Given the description of an element on the screen output the (x, y) to click on. 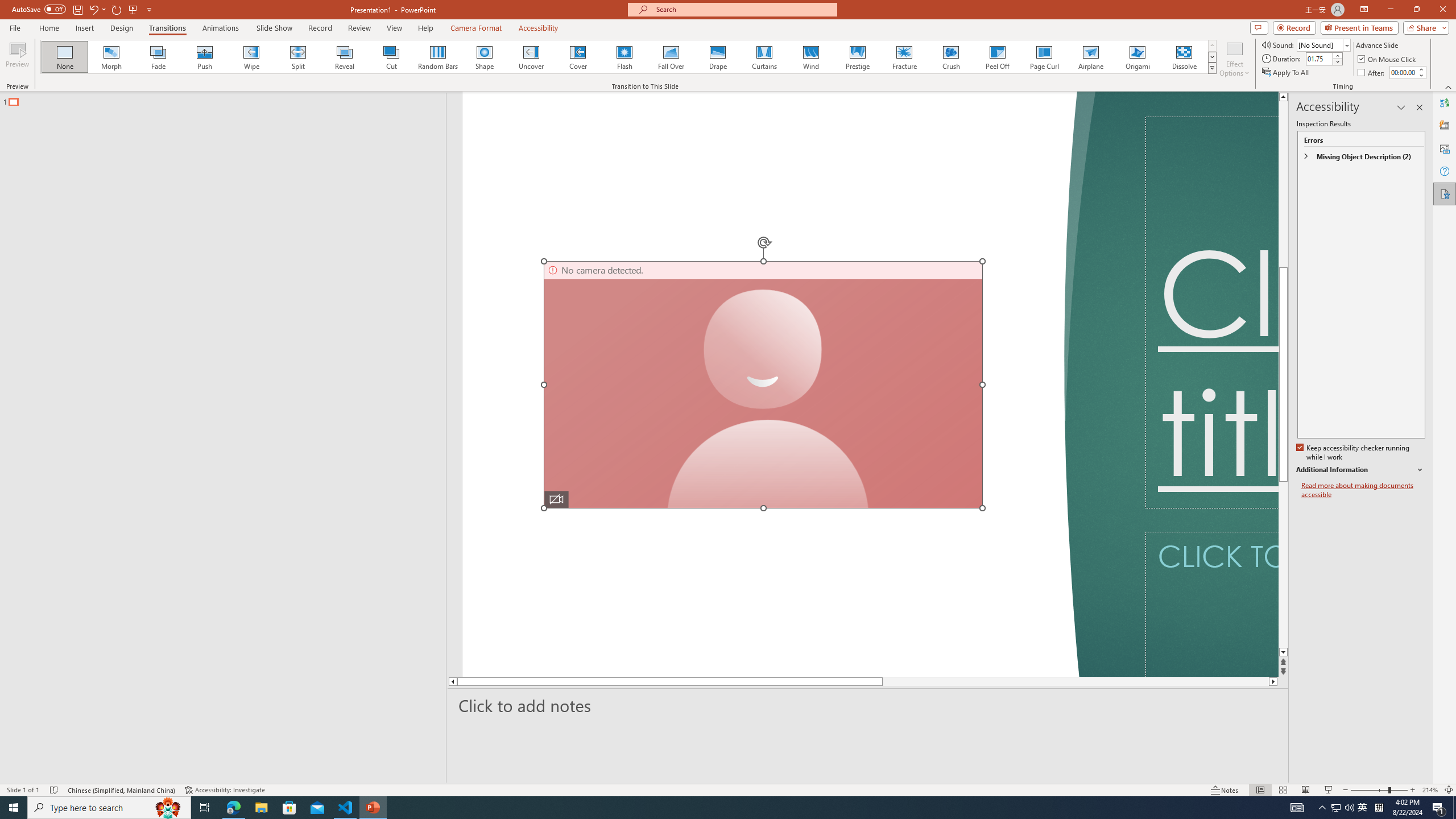
Additional Information (1360, 469)
Review (359, 28)
Zoom Out (1370, 790)
Present in Teams (1359, 27)
Page down (1052, 681)
Crush (950, 56)
None (65, 56)
Class: NetUIImage (1211, 68)
Push (205, 56)
Preview (17, 58)
Ribbon Display Options (1364, 9)
Customize Quick Access Toolbar (149, 9)
Fade (158, 56)
Slide Sorter (1282, 790)
